Given the description of an element on the screen output the (x, y) to click on. 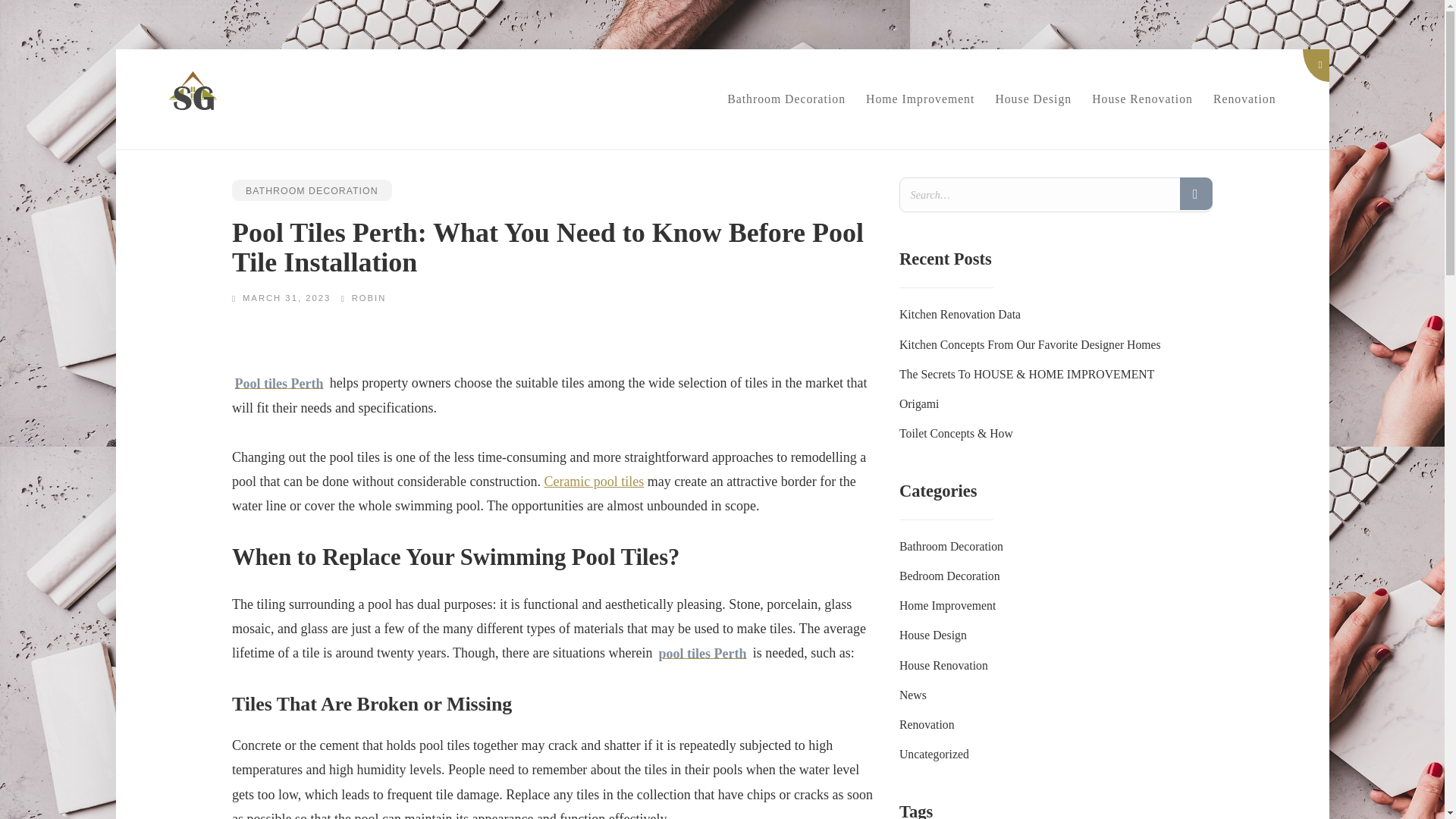
Renovation (1243, 98)
Search for: (1055, 194)
Pool tiles Perth (278, 383)
MARCH 31, 2023 (286, 297)
Home Improvement (920, 98)
House Design (1033, 98)
Origami (919, 403)
House Renovation (1142, 98)
Ceramic pool tiles (593, 481)
Bathroom Decoration (786, 98)
pool tiles Perth (702, 652)
Home Improvement (947, 604)
ROBIN (369, 297)
Kitchen Concepts From Our Favorite Designer Homes (1029, 344)
